Given the description of an element on the screen output the (x, y) to click on. 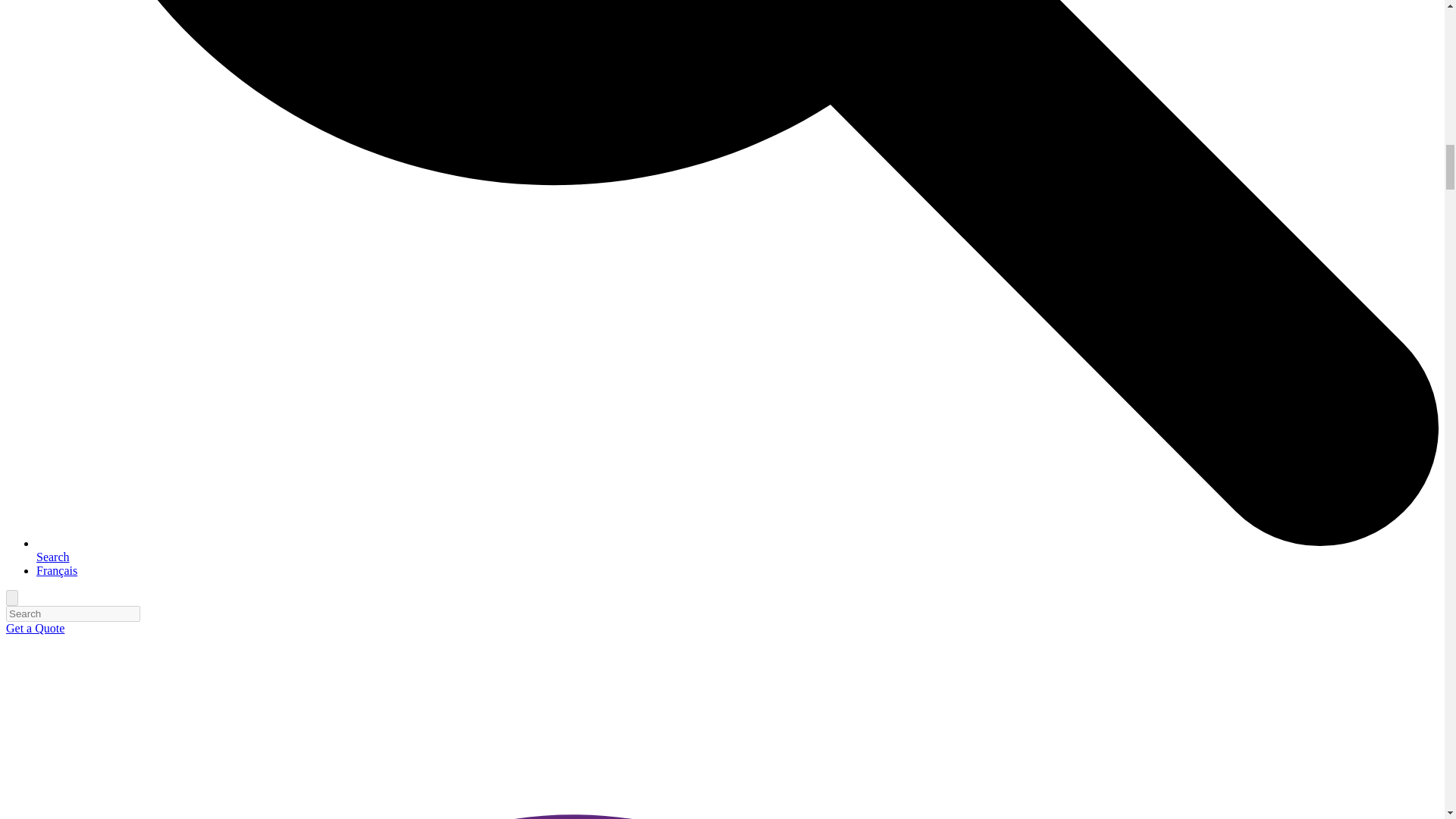
Get a Quote (34, 627)
